Given the description of an element on the screen output the (x, y) to click on. 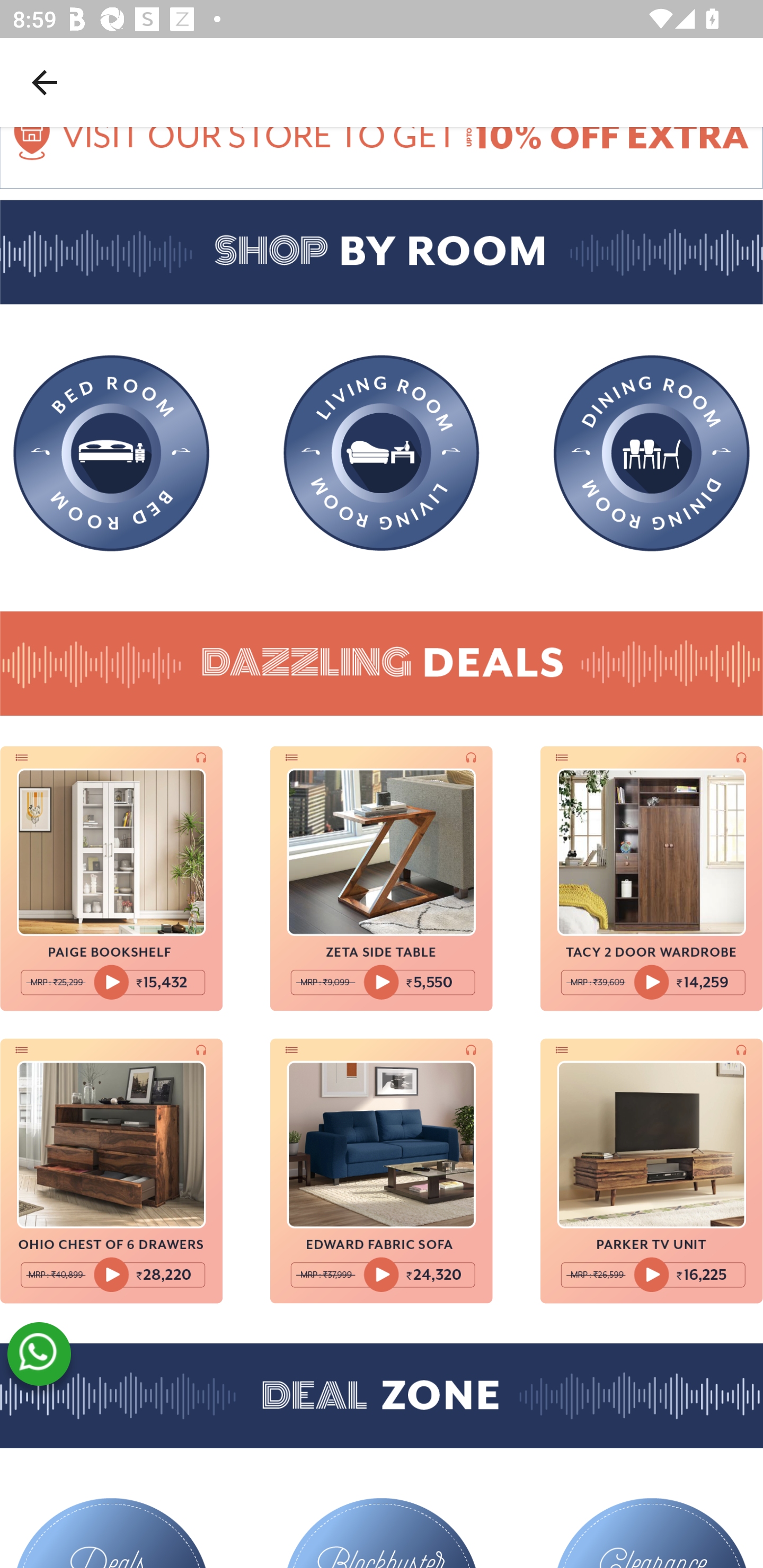
Navigate up (44, 82)
Bed-room (111, 454)
Living room (381, 453)
Dinig room (651, 454)
Dazzling deals-1 (111, 879)
Dazzling deals-2 (381, 879)
Dazzling deals-3 (651, 879)
dazzling deals-4 (111, 1172)
Dazzling deals-6 (651, 1172)
whatsapp (38, 1354)
